Given the description of an element on the screen output the (x, y) to click on. 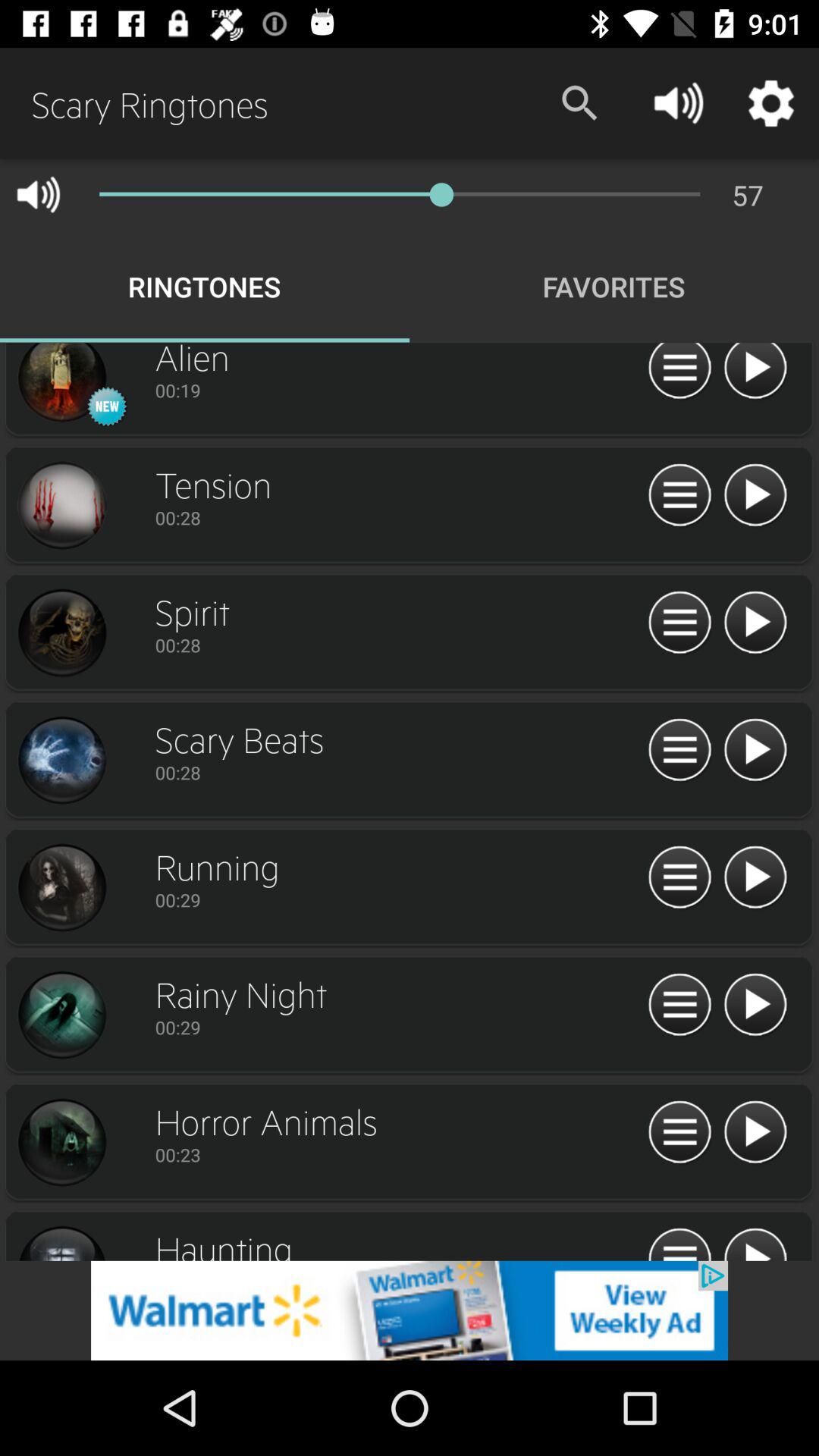
audio play (755, 1242)
